Given the description of an element on the screen output the (x, y) to click on. 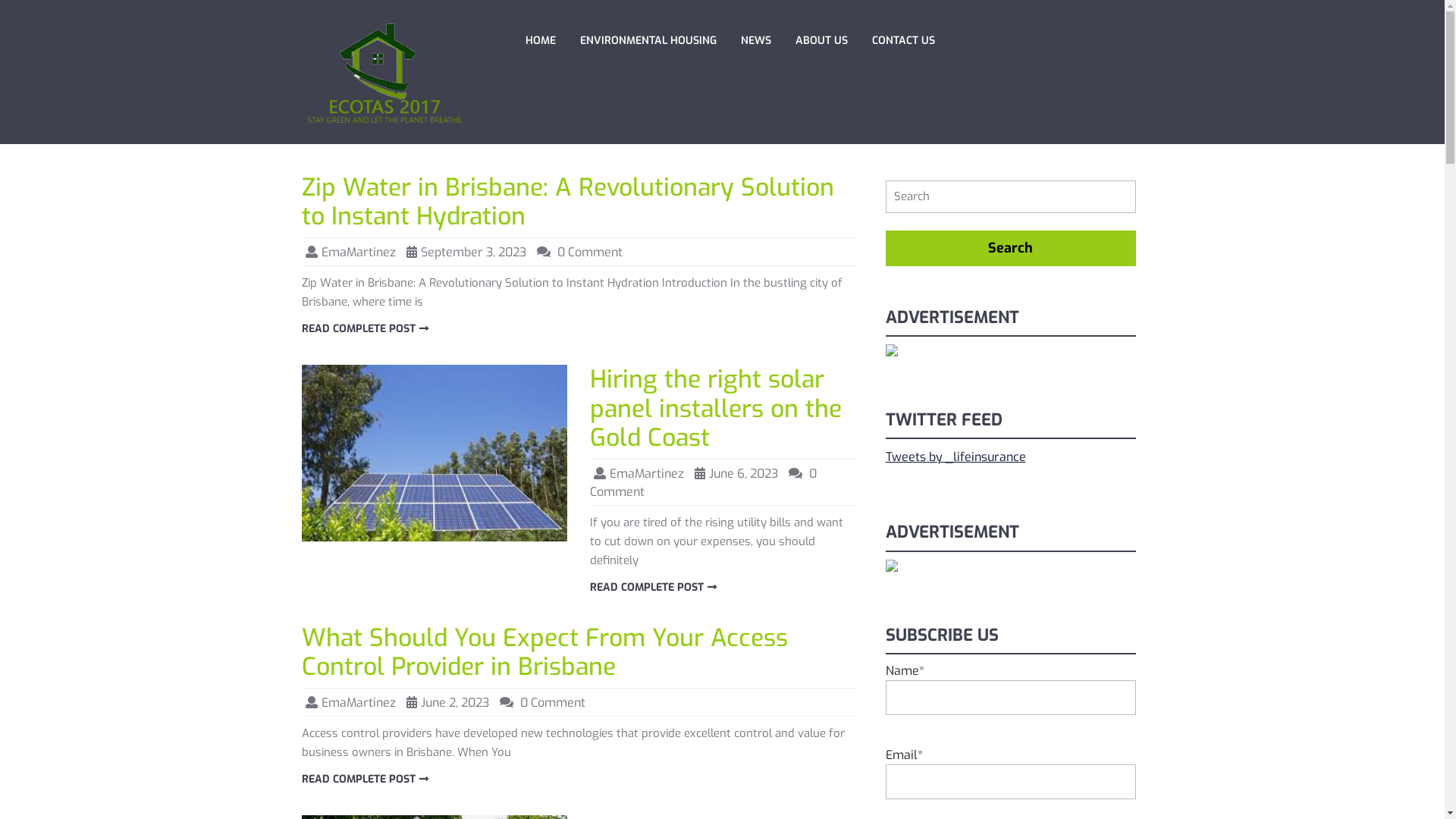
HOME Element type: text (542, 40)
CONTACT US Element type: text (906, 40)
June 6, 2023 Element type: text (742, 473)
ABOUT US Element type: text (823, 40)
ENVIRONMENTAL HOUSING Element type: text (650, 40)
Search Element type: text (1010, 248)
September 3, 2023 Element type: text (472, 252)
EmaMartinez Element type: text (358, 252)
EmaMartinez Element type: text (646, 473)
June 2, 2023 Element type: text (454, 702)
READ COMPLETE POST Element type: text (366, 779)
Hiring the right solar panel installers on the Gold Coast Element type: text (715, 408)
Tweets by _lifeinsurance Element type: text (955, 456)
NEWS Element type: text (758, 40)
READ COMPLETE POST Element type: text (654, 587)
READ COMPLETE POST Element type: text (366, 328)
EmaMartinez Element type: text (358, 702)
